Given the description of an element on the screen output the (x, y) to click on. 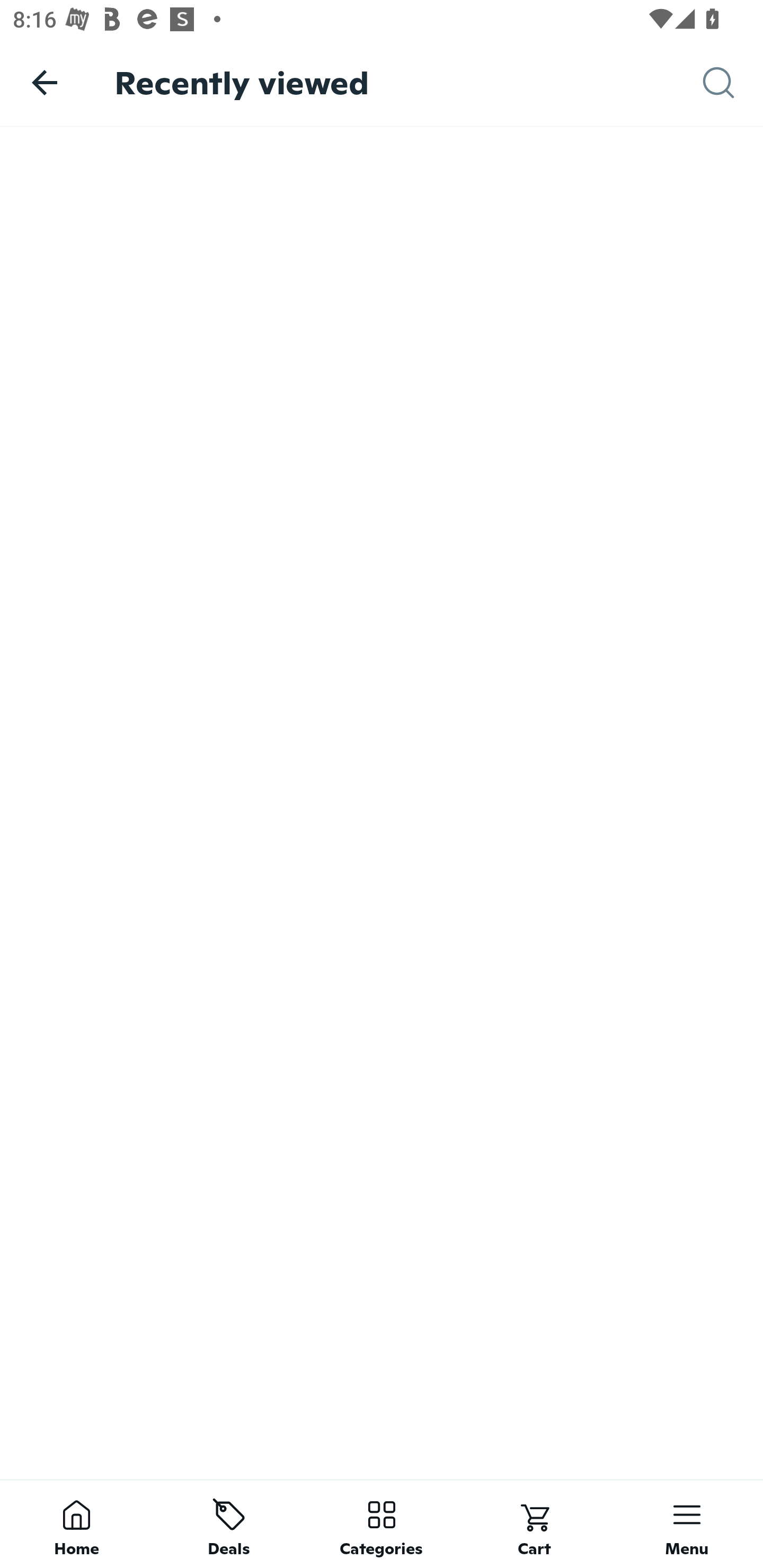
Navigate up (44, 82)
Search (732, 82)
Home (76, 1523)
Deals (228, 1523)
Categories (381, 1523)
Cart (533, 1523)
Menu (686, 1523)
